Given the description of an element on the screen output the (x, y) to click on. 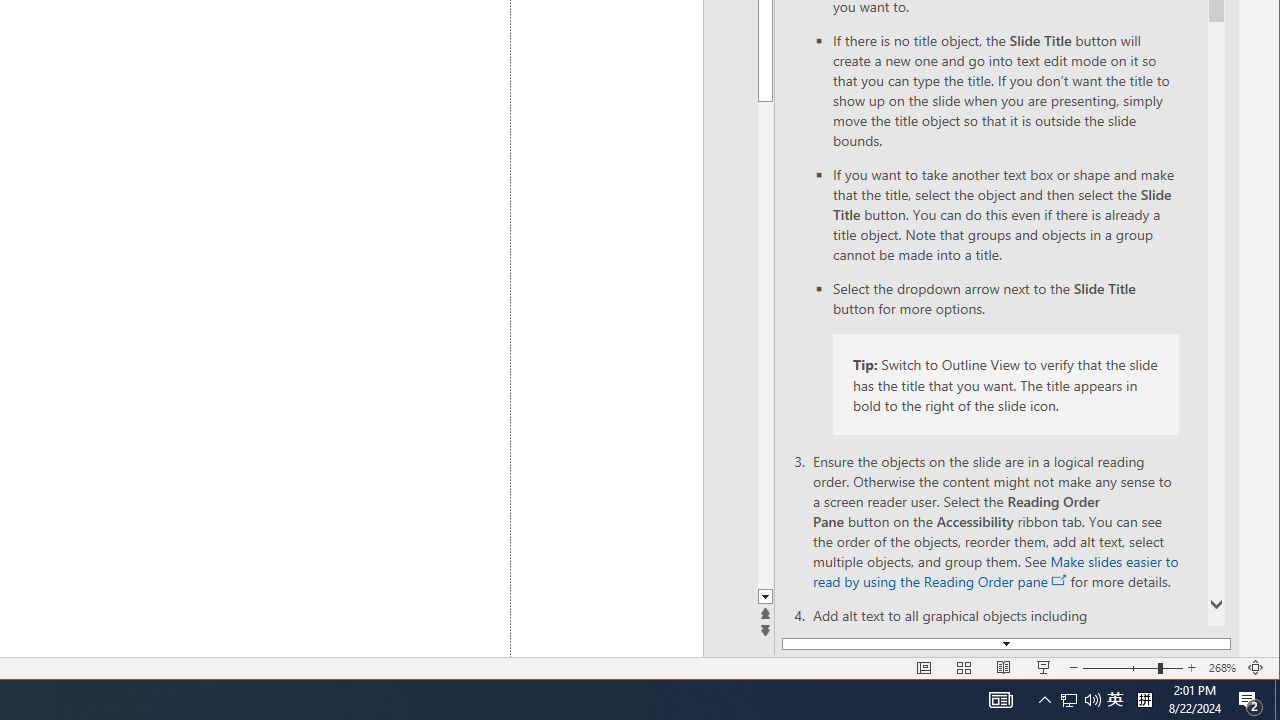
Zoom 268% (1222, 668)
